Given the description of an element on the screen output the (x, y) to click on. 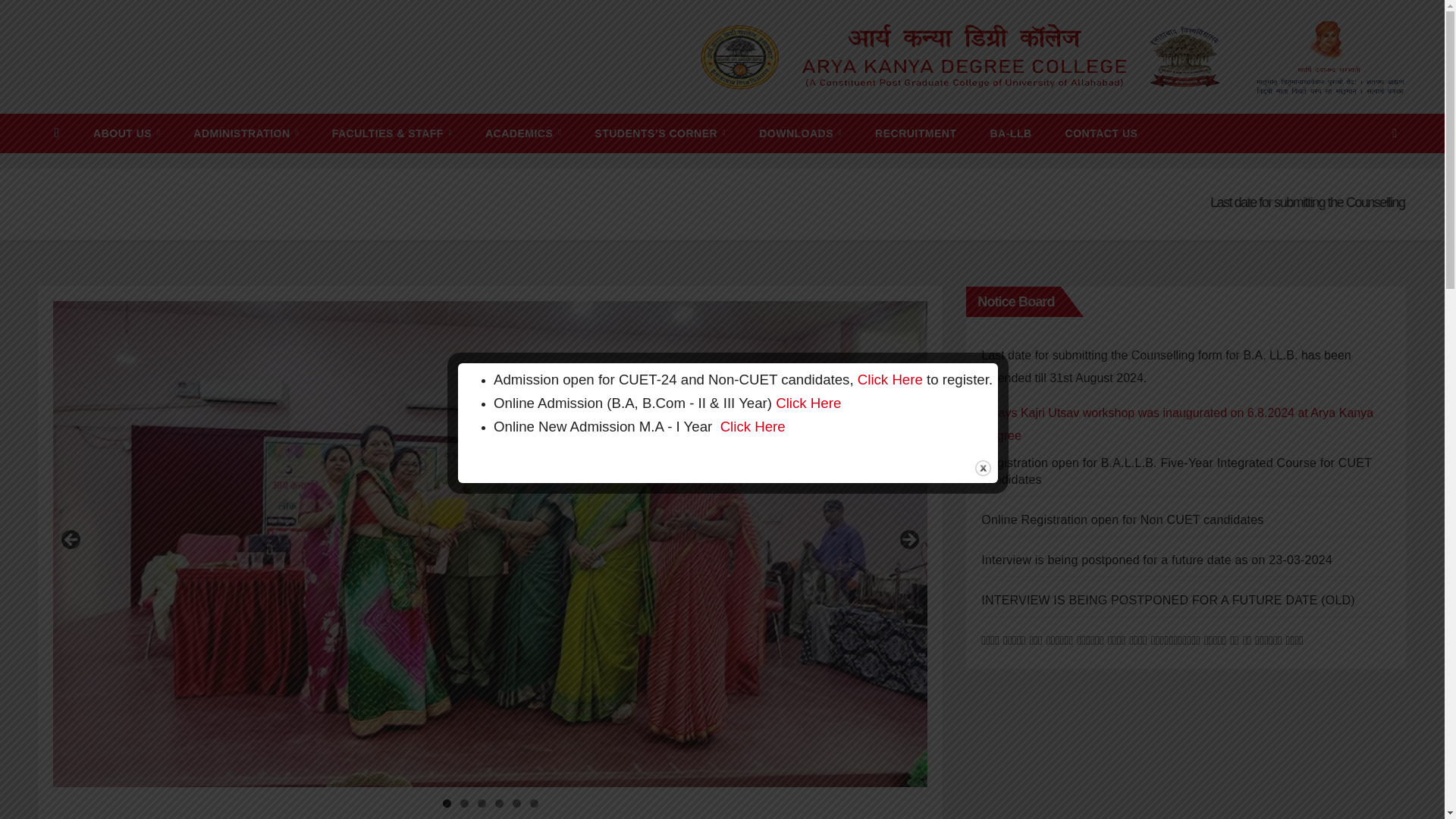
ADMINISTRATION (245, 133)
ABOUT US (126, 133)
About Us (126, 133)
Administration (245, 133)
